Given the description of an element on the screen output the (x, y) to click on. 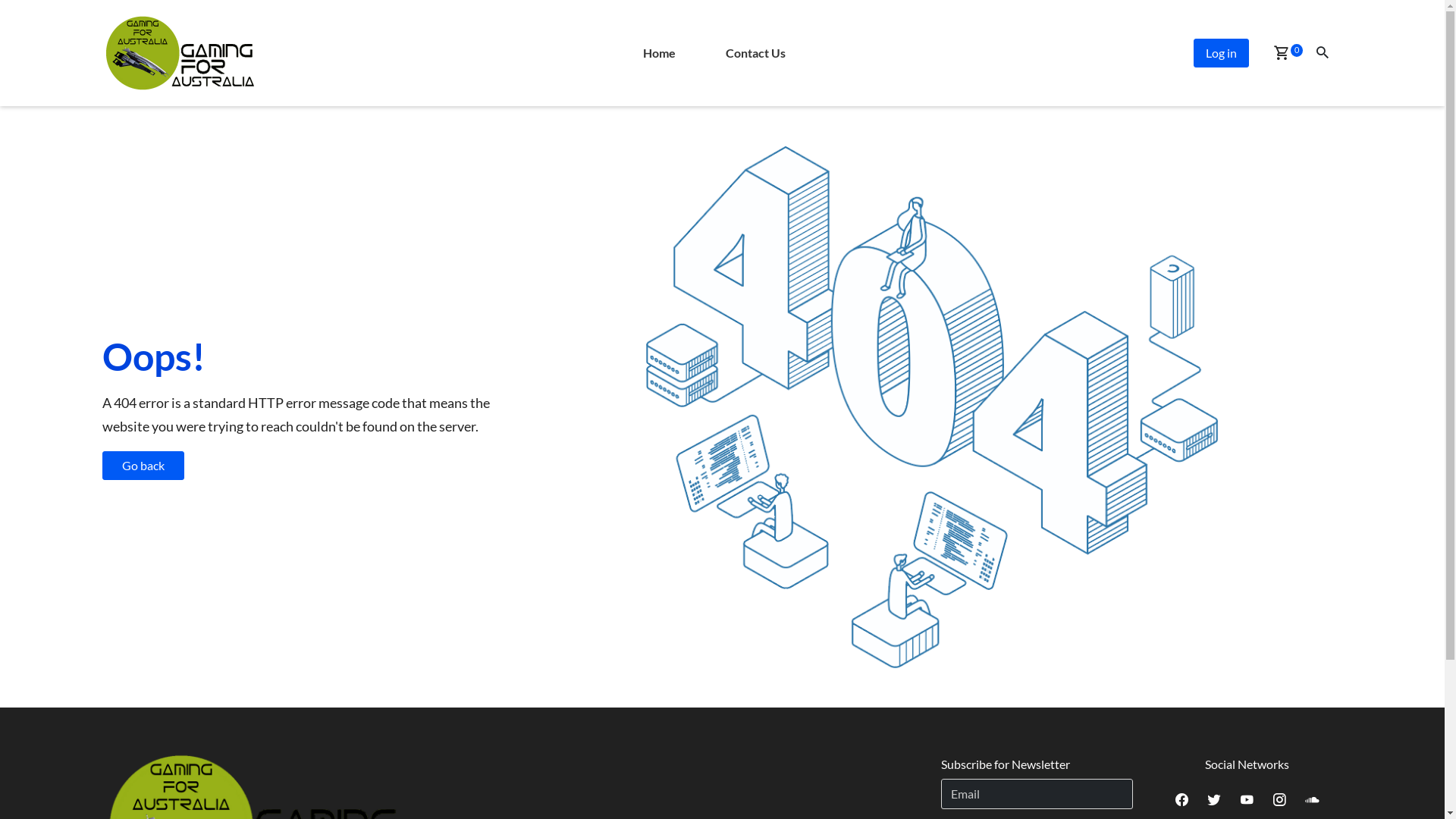
Log in Element type: text (1220, 52)
Go back Element type: text (142, 465)
Home Element type: text (659, 52)
0 Element type: text (1280, 54)
Contact Us Element type: text (755, 52)
